Given the description of an element on the screen output the (x, y) to click on. 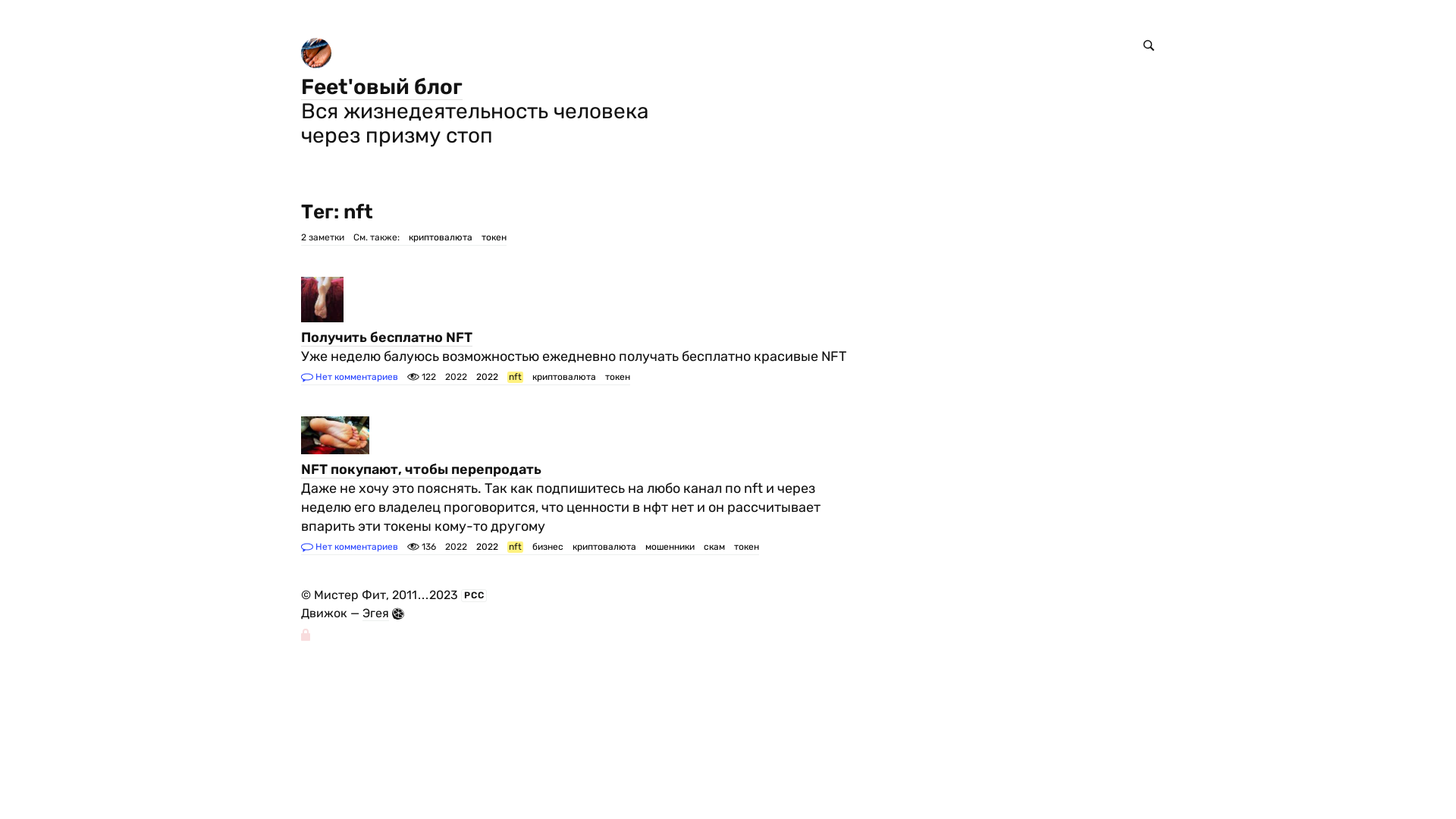
2022 Element type: text (486, 547)
2022 Element type: text (486, 377)
